Given the description of an element on the screen output the (x, y) to click on. 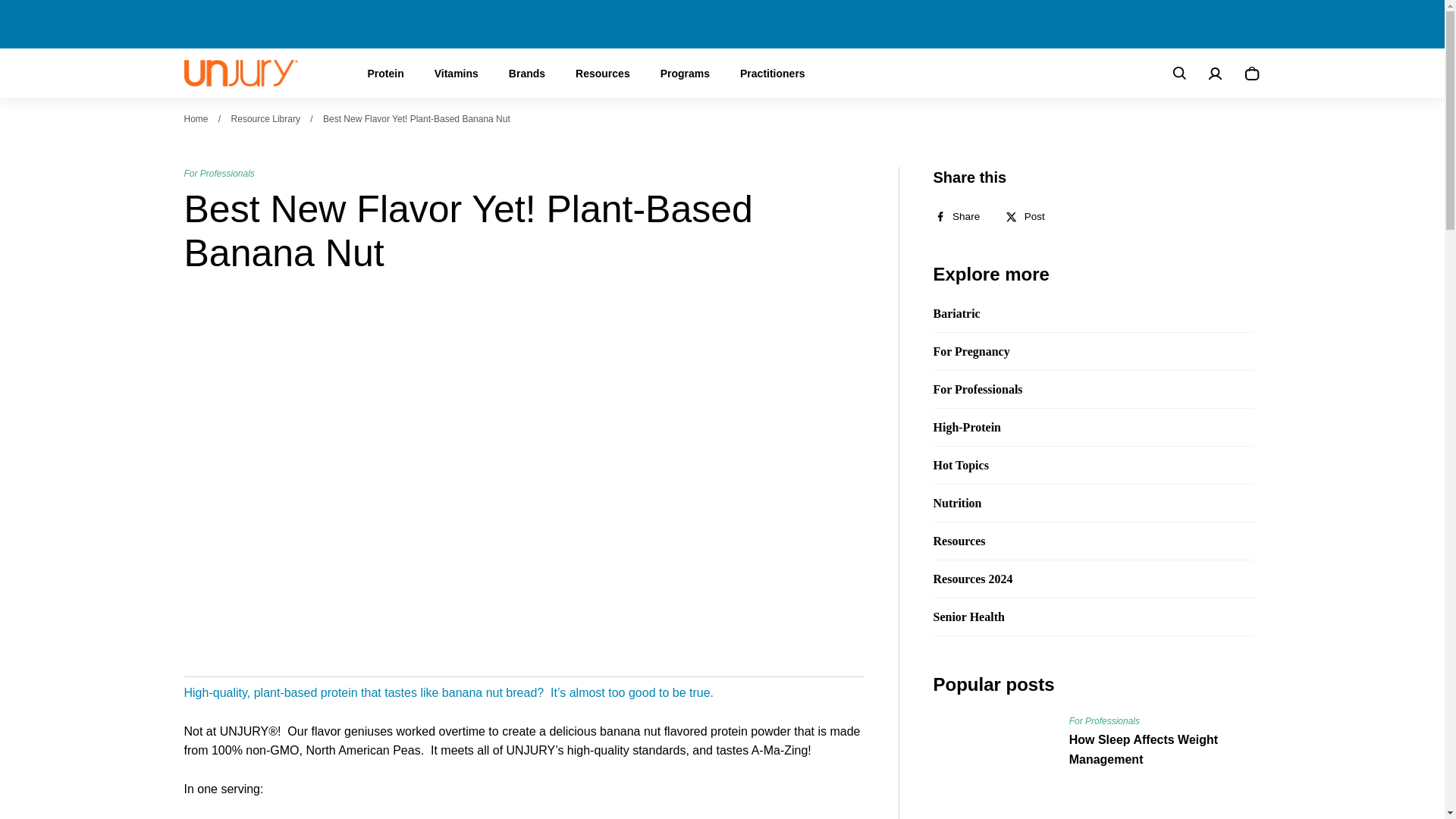
Search (1178, 73)
Account (1214, 73)
Cart (1251, 73)
Tweet on Twitter (1030, 216)
Back to the frontpage (195, 118)
Share on Facebook (962, 216)
